Given the description of an element on the screen output the (x, y) to click on. 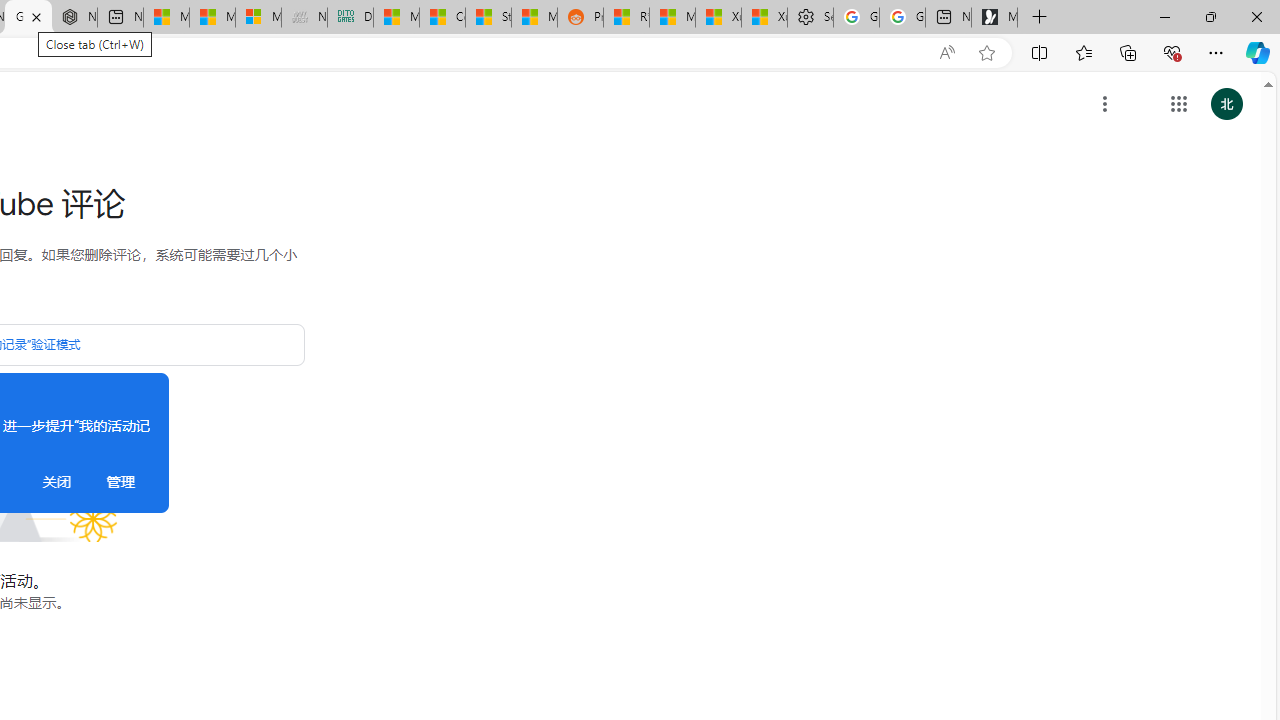
DITOGAMES AG Imprint (349, 17)
Microsoft Start Gaming (994, 17)
Stocks - MSN (487, 17)
R******* | Trusted Community Engagement and Contributions (626, 17)
Class: gb_E (1178, 103)
